Given the description of an element on the screen output the (x, y) to click on. 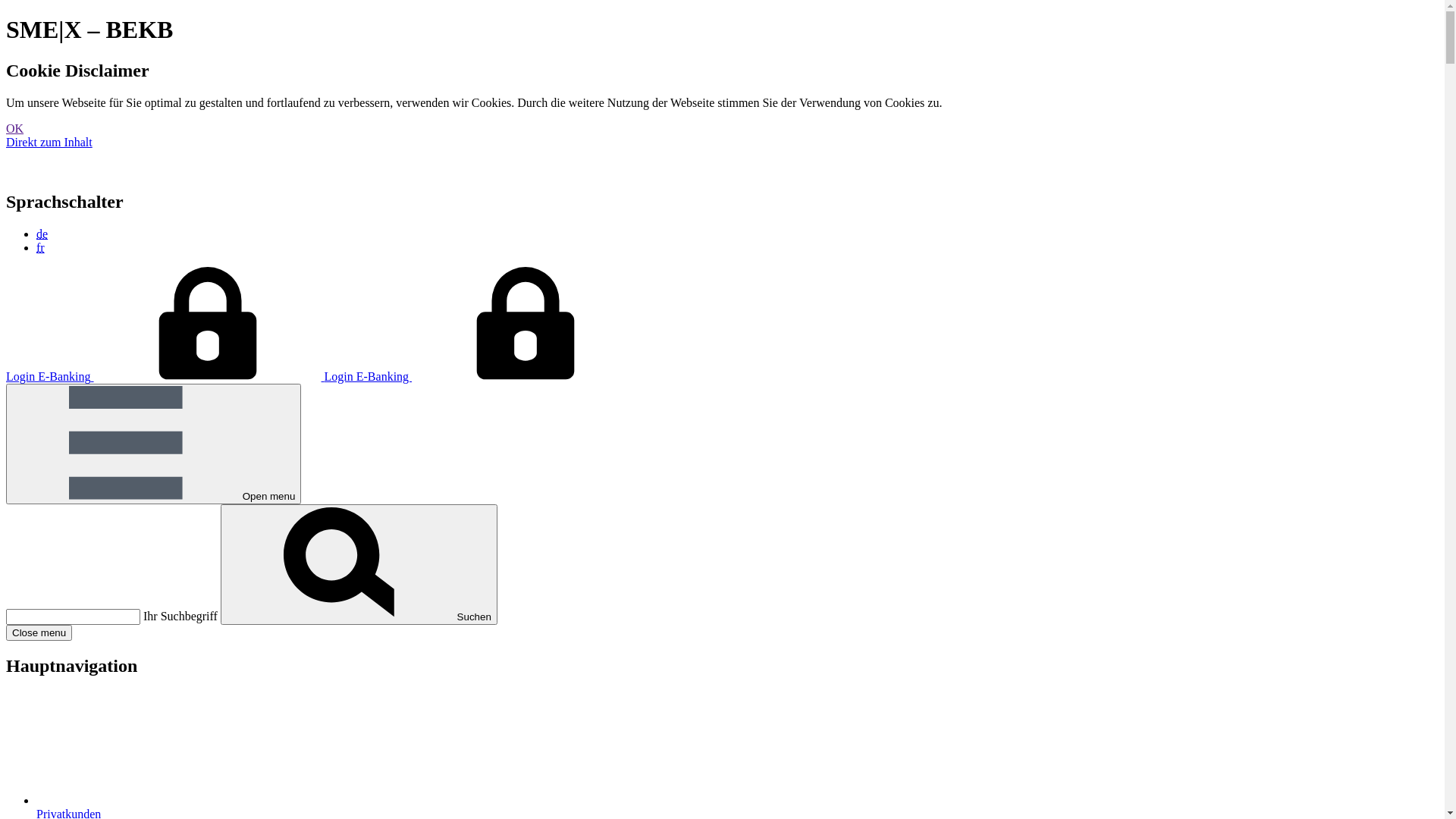
fr Element type: text (40, 247)
OK Element type: text (14, 128)
Direkt zum Inhalt Element type: text (49, 141)
Suchen Element type: text (358, 564)
Login E-Banking Element type: text (482, 376)
Open menu Element type: text (153, 443)
de Element type: text (41, 233)
Close menu Element type: text (39, 632)
Login E-Banking Element type: text (165, 376)
